Given the description of an element on the screen output the (x, y) to click on. 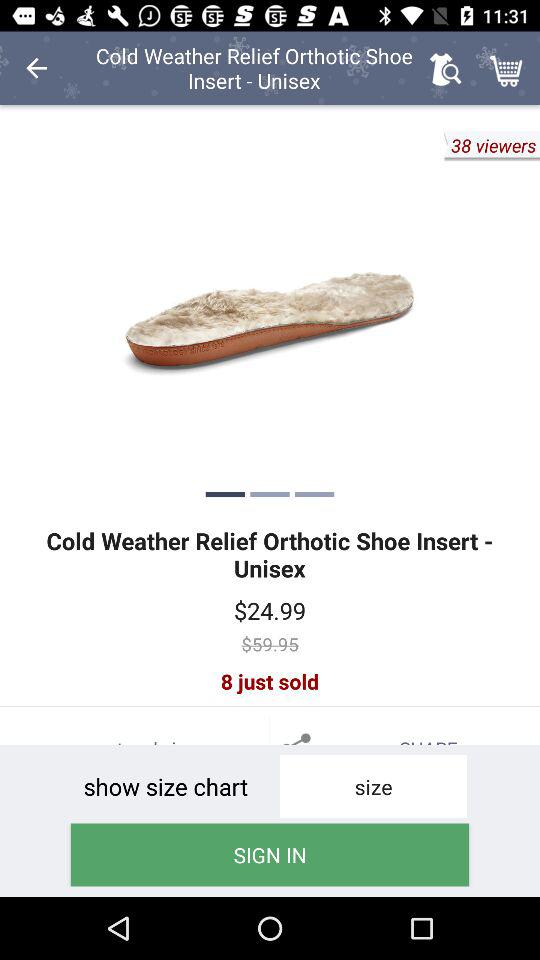
scroll to next picture (270, 309)
